Given the description of an element on the screen output the (x, y) to click on. 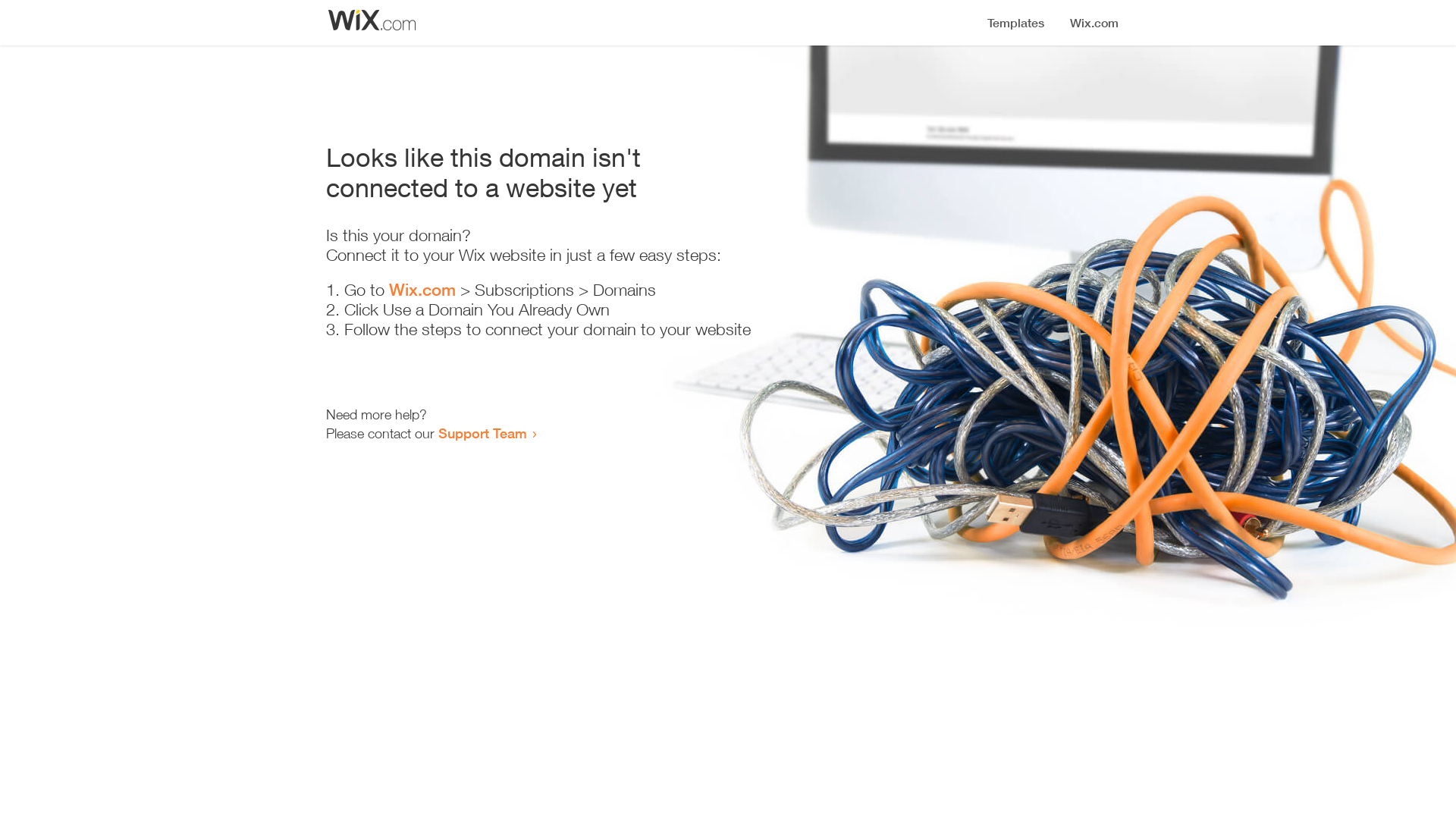
Support Team Element type: text (482, 432)
Wix.com Element type: text (422, 289)
